Given the description of an element on the screen output the (x, y) to click on. 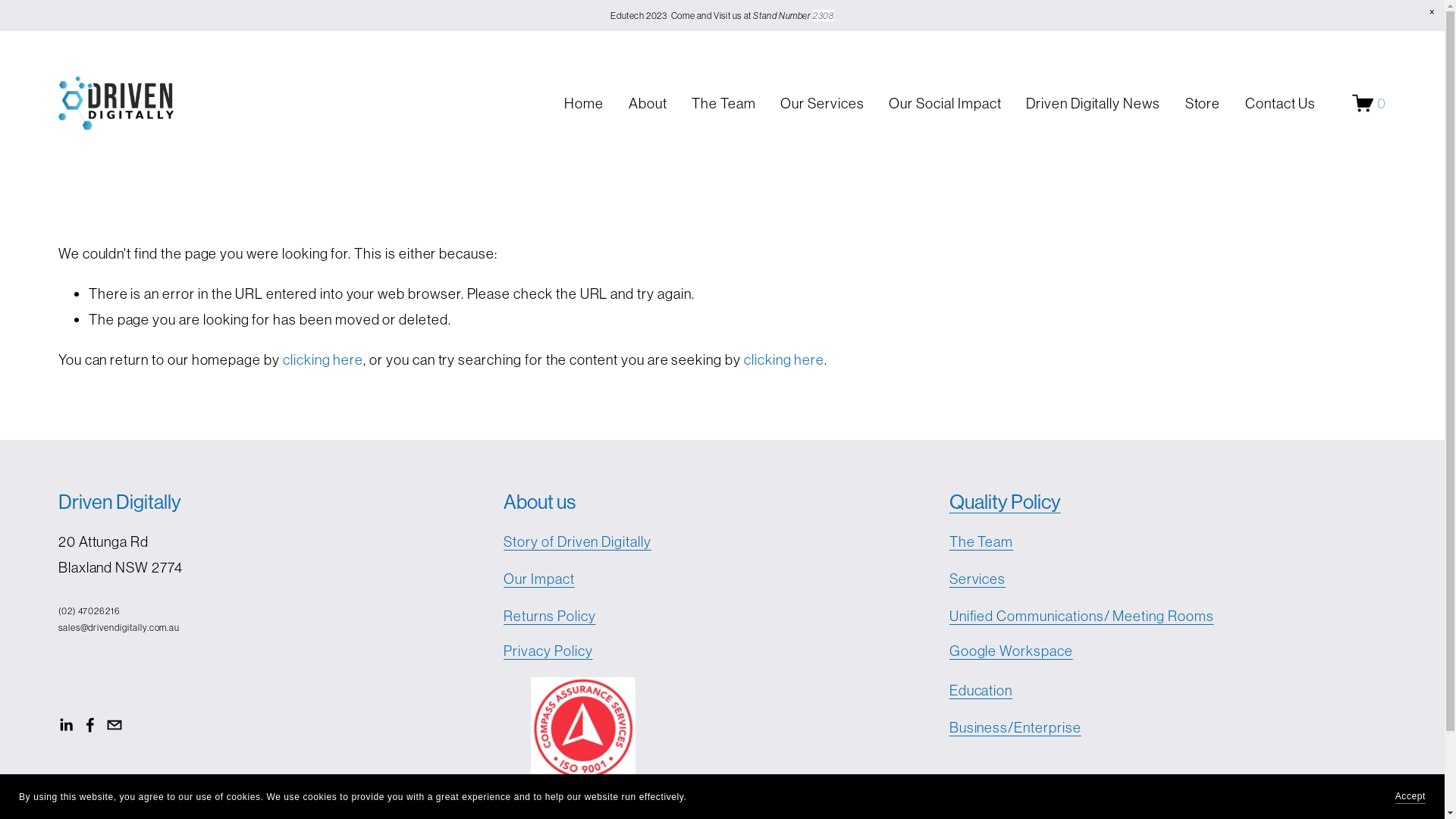
Education Element type: text (981, 689)
Returns Policy Element type: text (549, 615)
The Team Element type: text (723, 102)
Google Workspace Element type: text (1011, 650)
Our Impact Element type: text (538, 578)
clicking here Element type: text (322, 359)
Business/Enterprise Element type: text (1015, 727)
Contact Us Element type: text (1280, 102)
Our Services Element type: text (821, 102)
Home Element type: text (583, 102)
Our Social Impact Element type: text (944, 102)
Privacy Policy Element type: text (547, 650)
The Team Element type: text (981, 541)
Store Element type: text (1202, 102)
Story of Driven Digitally Element type: text (577, 541)
Accept Element type: text (1410, 796)
About Element type: text (647, 102)
clicking here Element type: text (783, 359)
Driven Digitally News Element type: text (1093, 102)
Unified Communications/ Meeting Rooms Element type: text (1081, 615)
Services Element type: text (977, 578)
Quality Policy Element type: text (1004, 501)
0 Element type: text (1369, 102)
